Given the description of an element on the screen output the (x, y) to click on. 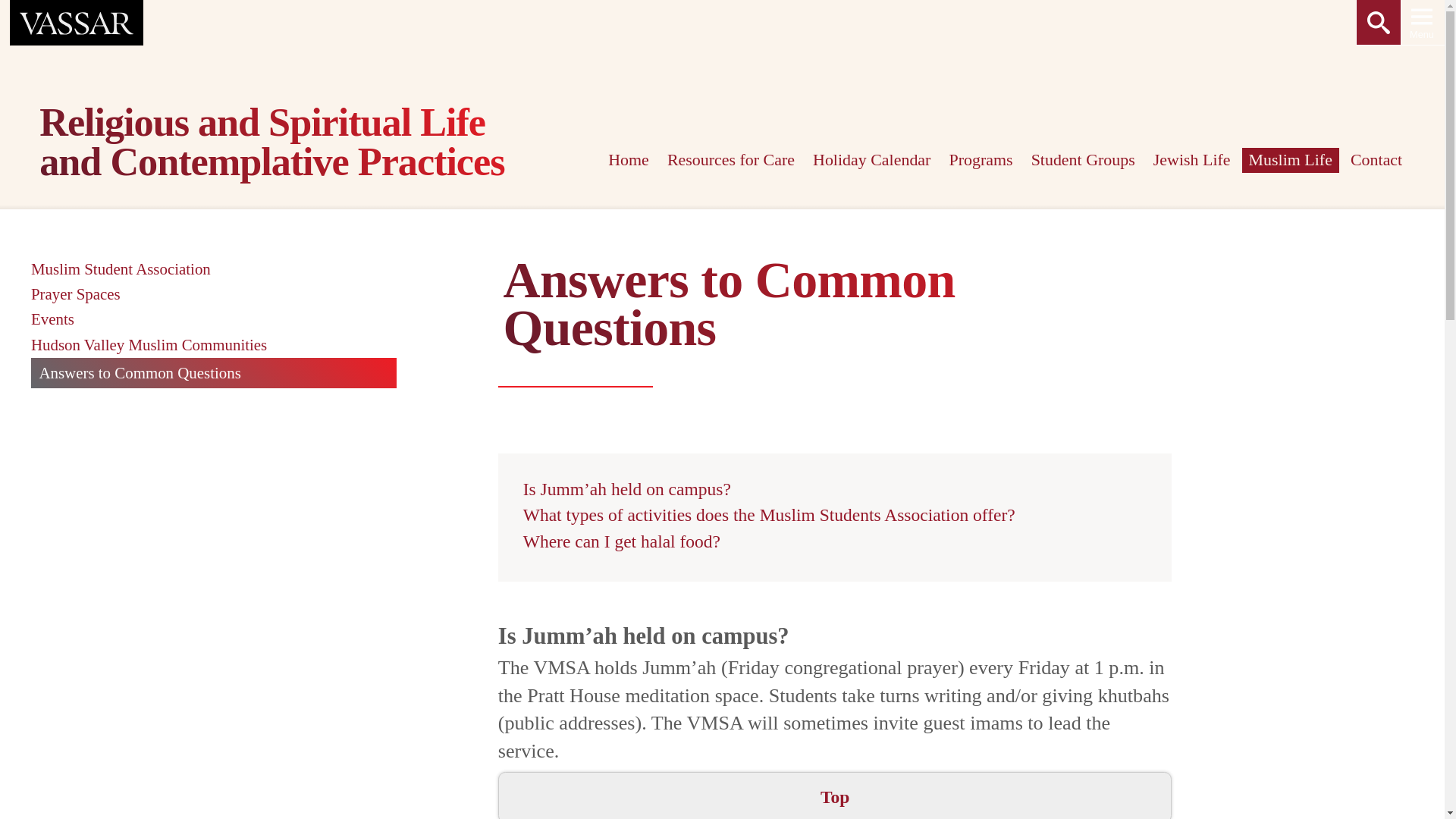
Vassar (76, 22)
Religious and Spiritual Life and Contemplative Practices (282, 145)
Jewish Life (1191, 160)
Home (628, 160)
Holiday Calendar (871, 160)
Where can I get halal food? (621, 541)
Top (834, 796)
Resources for Care (731, 160)
Student Groups (1083, 160)
Vassar (76, 23)
Programs (981, 160)
